Given the description of an element on the screen output the (x, y) to click on. 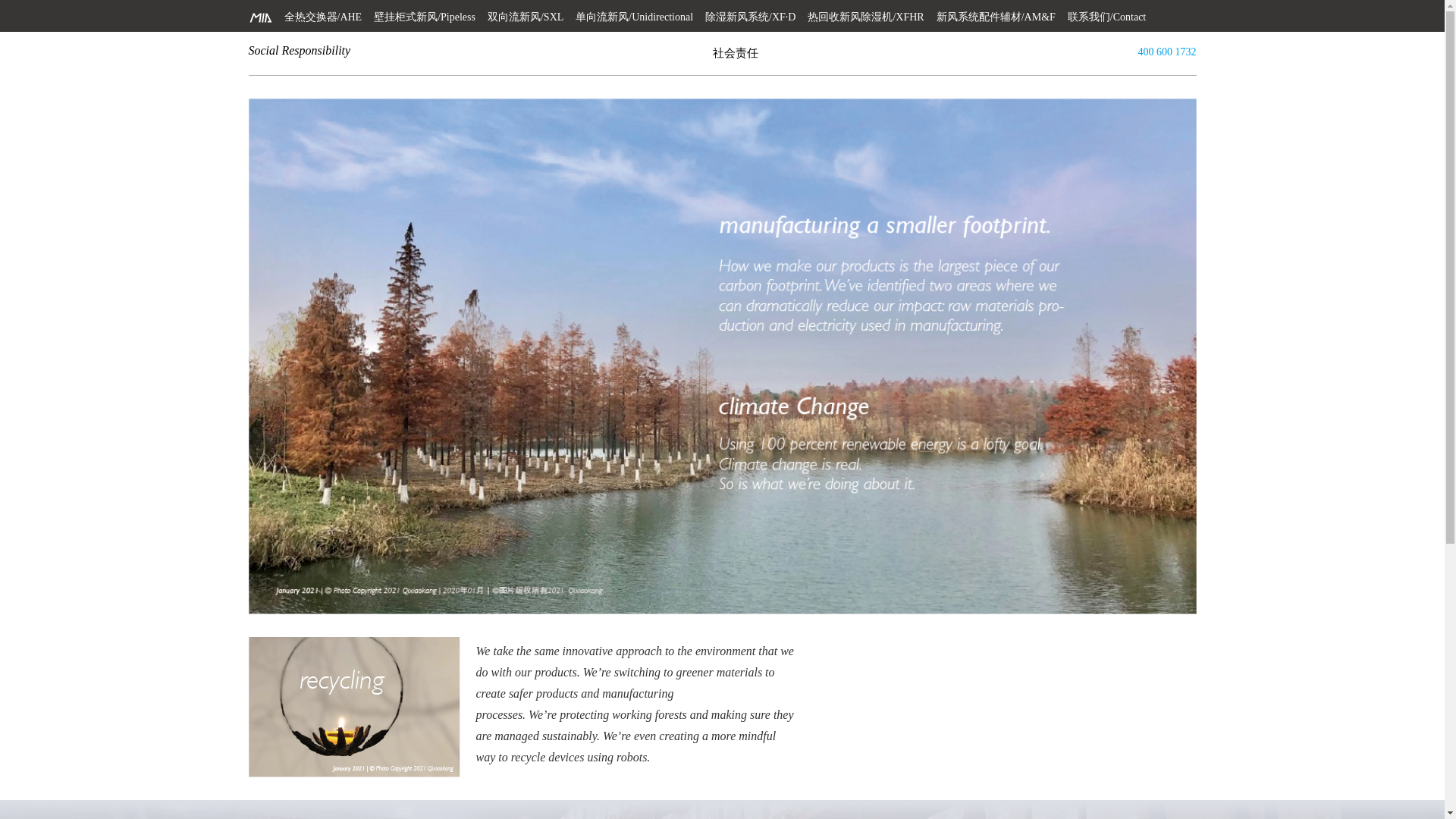
400 600 1732 (1158, 51)
